Given the description of an element on the screen output the (x, y) to click on. 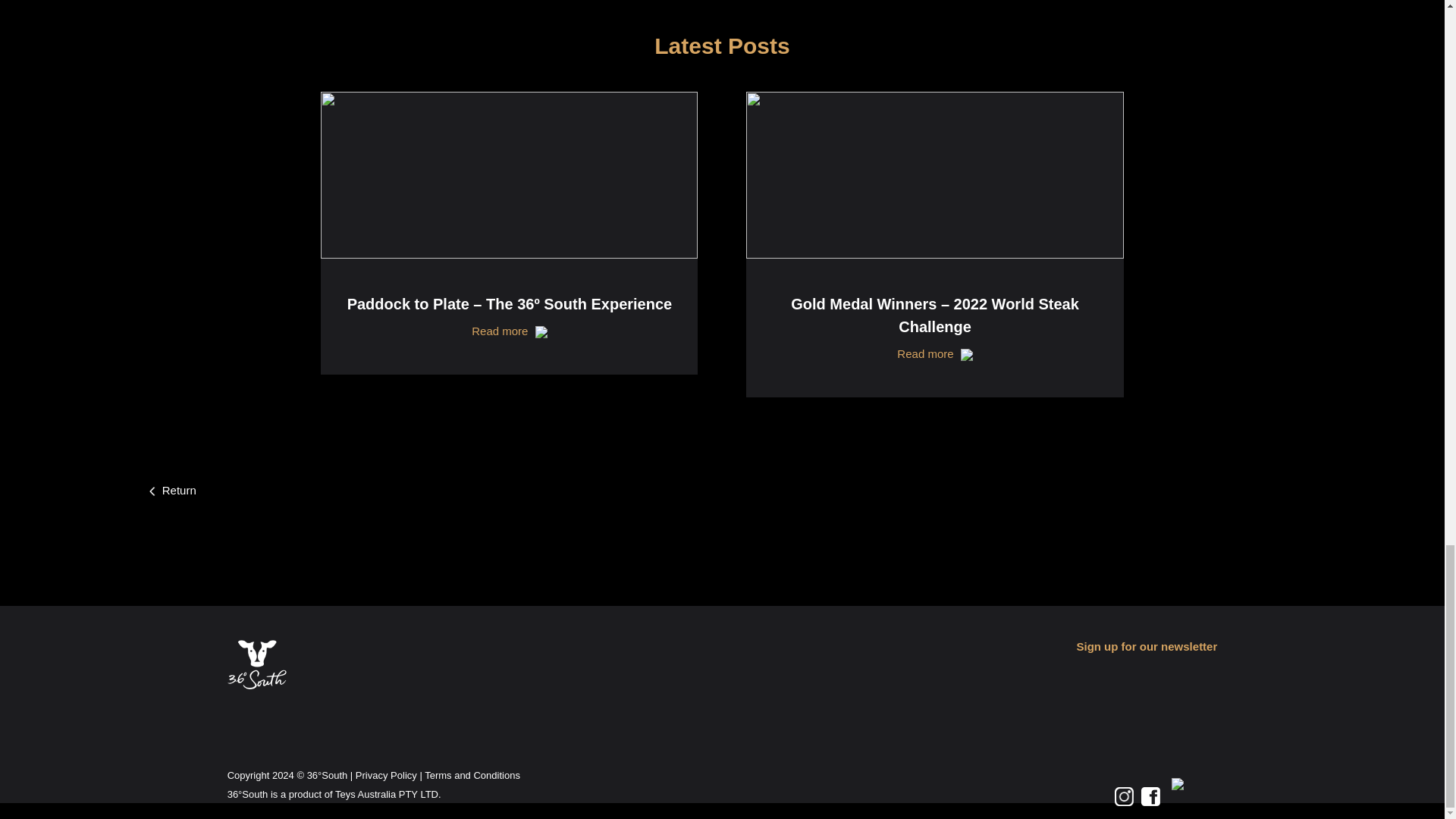
Terms and Conditions (472, 775)
Read more (509, 330)
Return (172, 490)
Read more (934, 353)
Privacy Policy (385, 775)
